Given the description of an element on the screen output the (x, y) to click on. 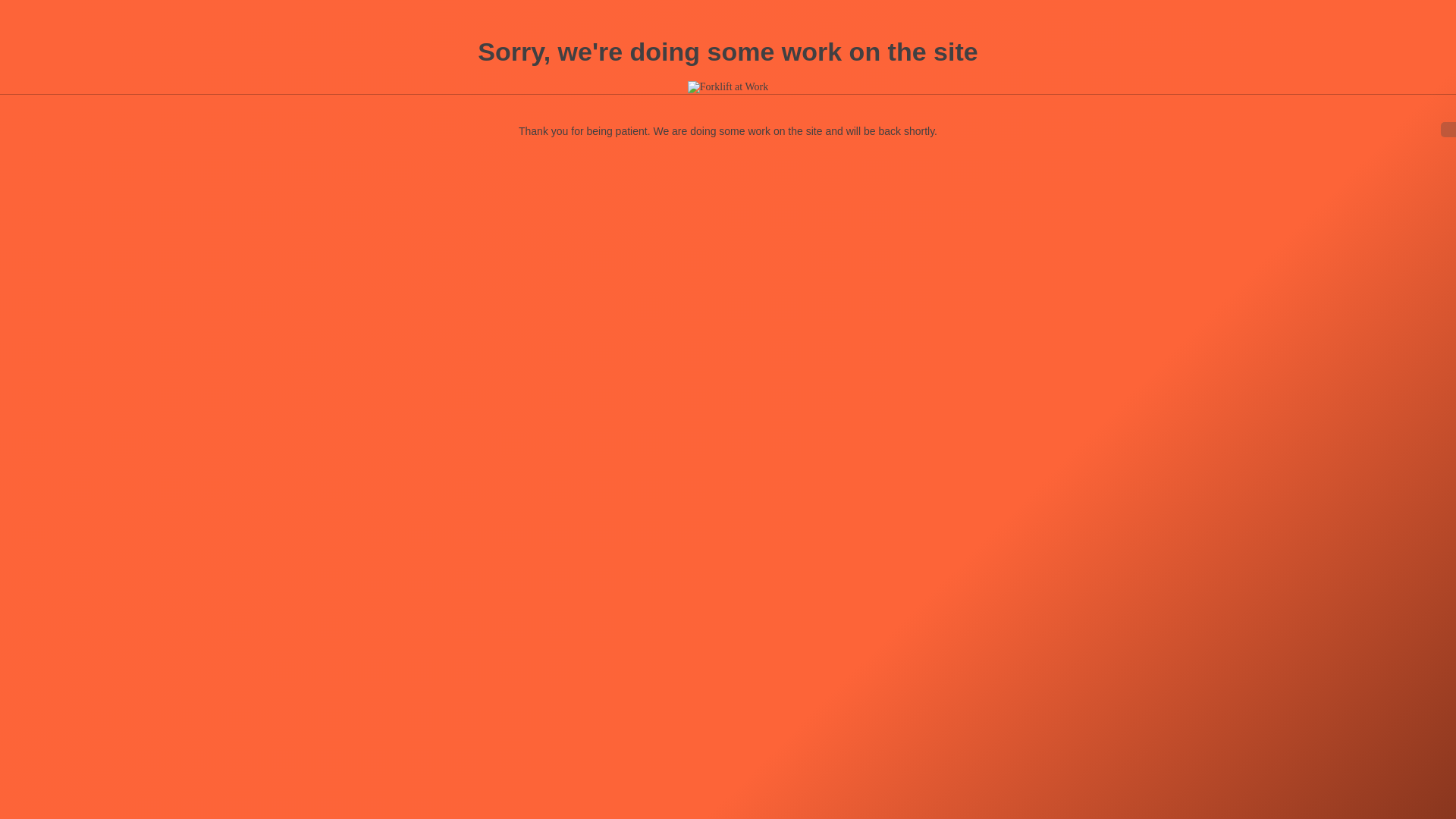
Forklift at Work Element type: hover (727, 87)
